Given the description of an element on the screen output the (x, y) to click on. 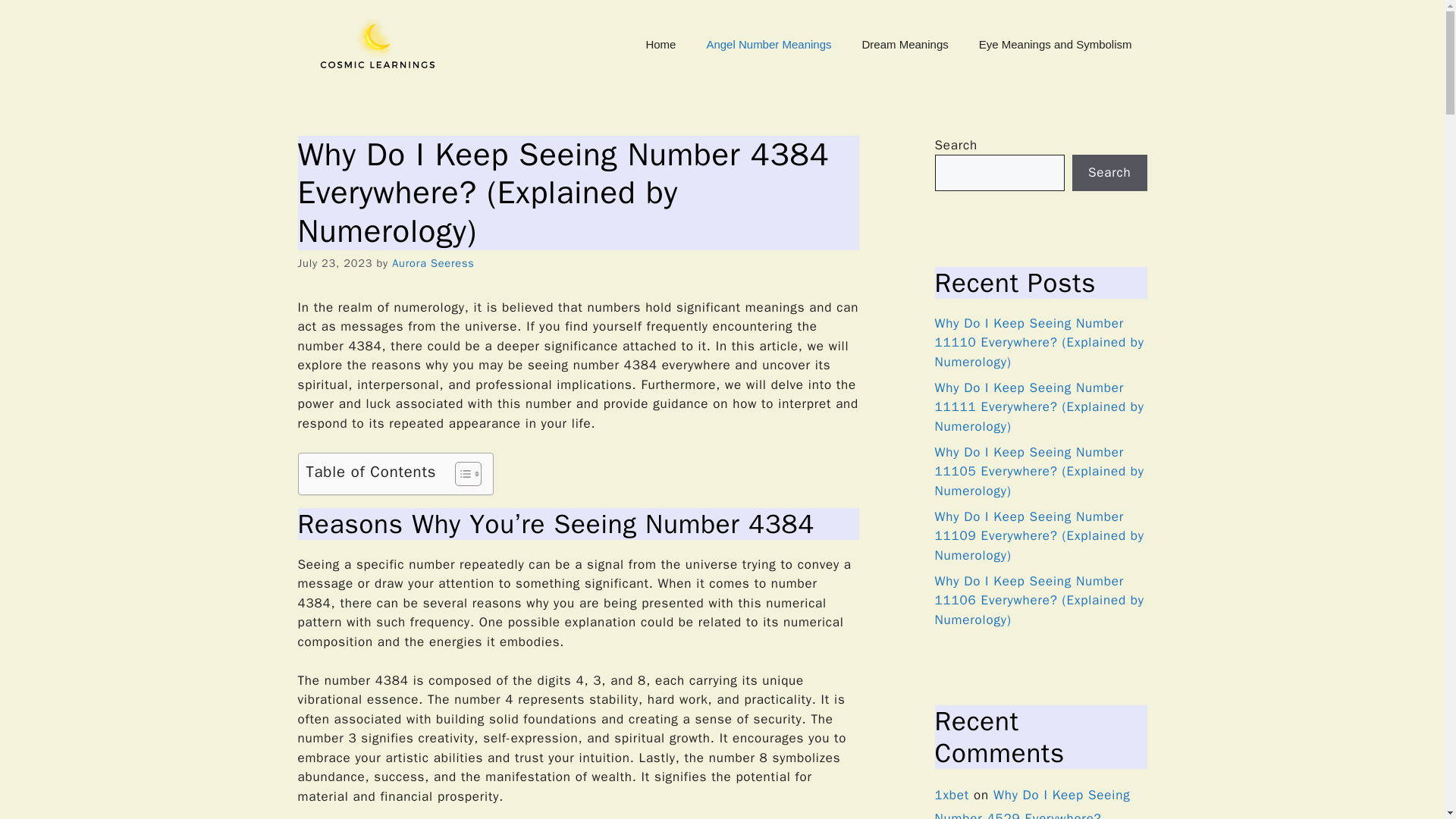
Aurora Seeress (432, 263)
Home (660, 44)
Dream Meanings (905, 44)
Eye Meanings and Symbolism (1055, 44)
Angel Number Meanings (767, 44)
View all posts by Aurora Seeress (432, 263)
